Given the description of an element on the screen output the (x, y) to click on. 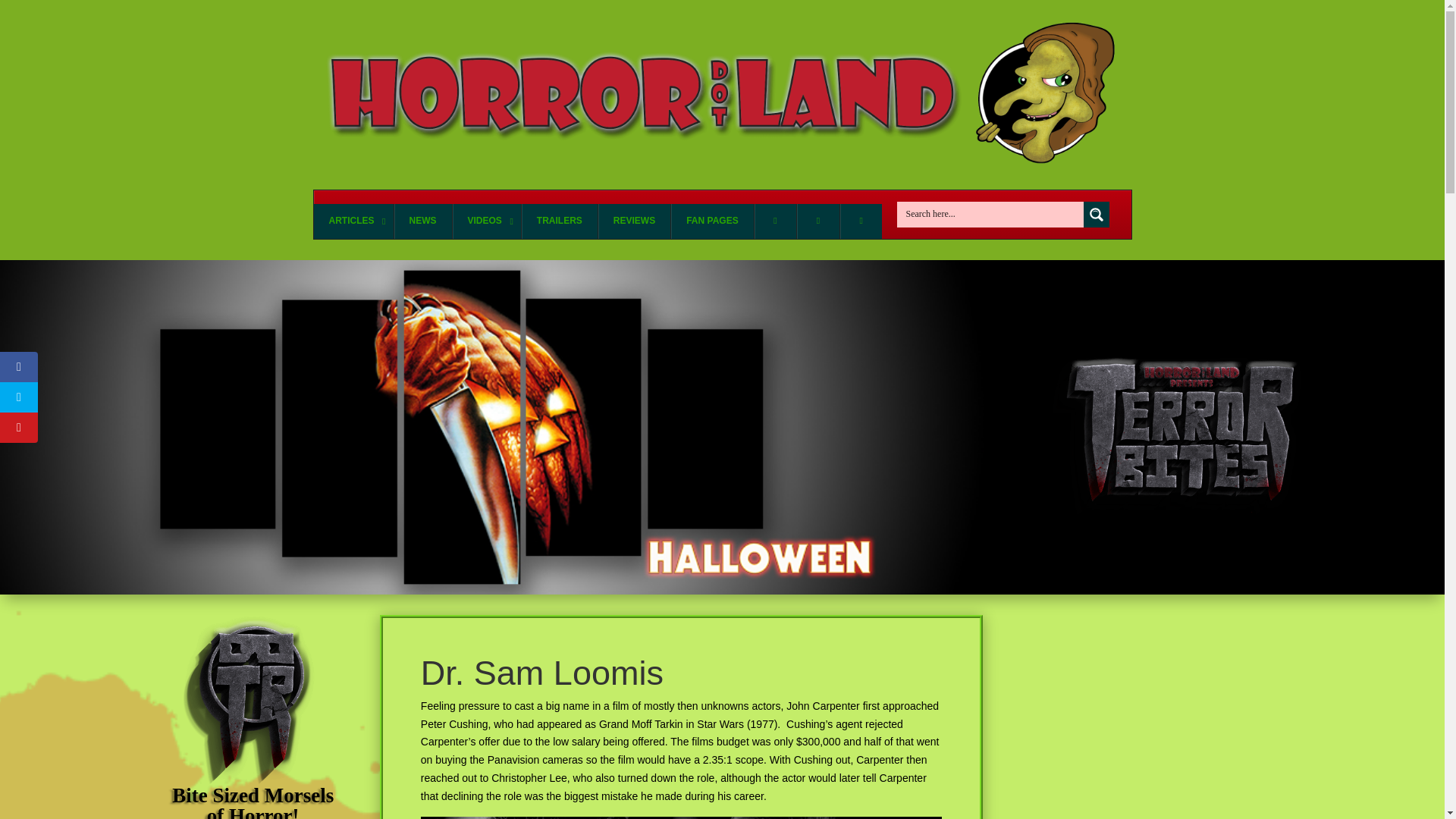
NEWS (422, 221)
Horror-Dot-Land-w-Logo-v1 (722, 93)
VIDEOS (486, 221)
ARTICLES (353, 221)
